Given the description of an element on the screen output the (x, y) to click on. 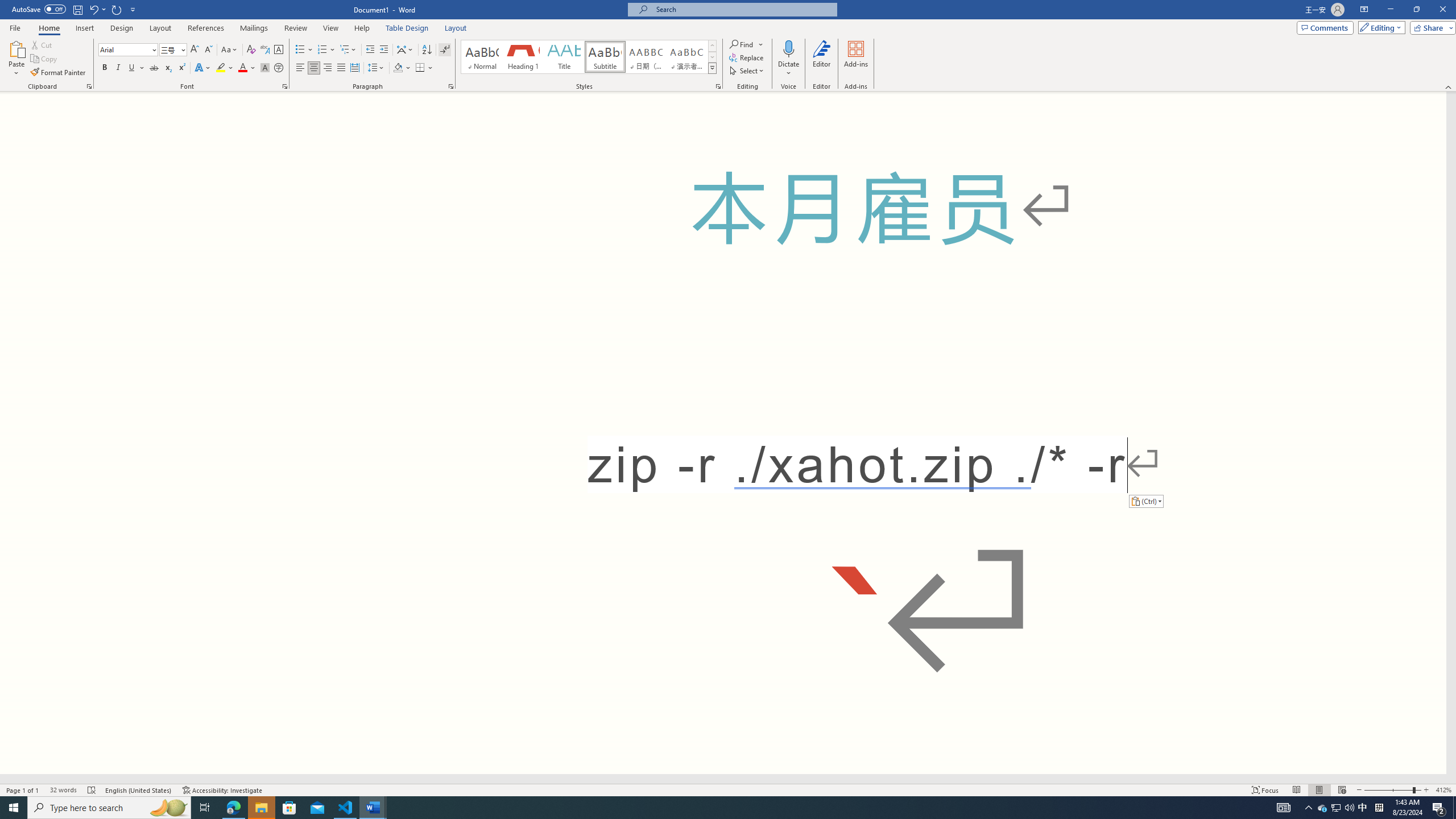
AutomationID: QuickStylesGallery (588, 56)
